Given the description of an element on the screen output the (x, y) to click on. 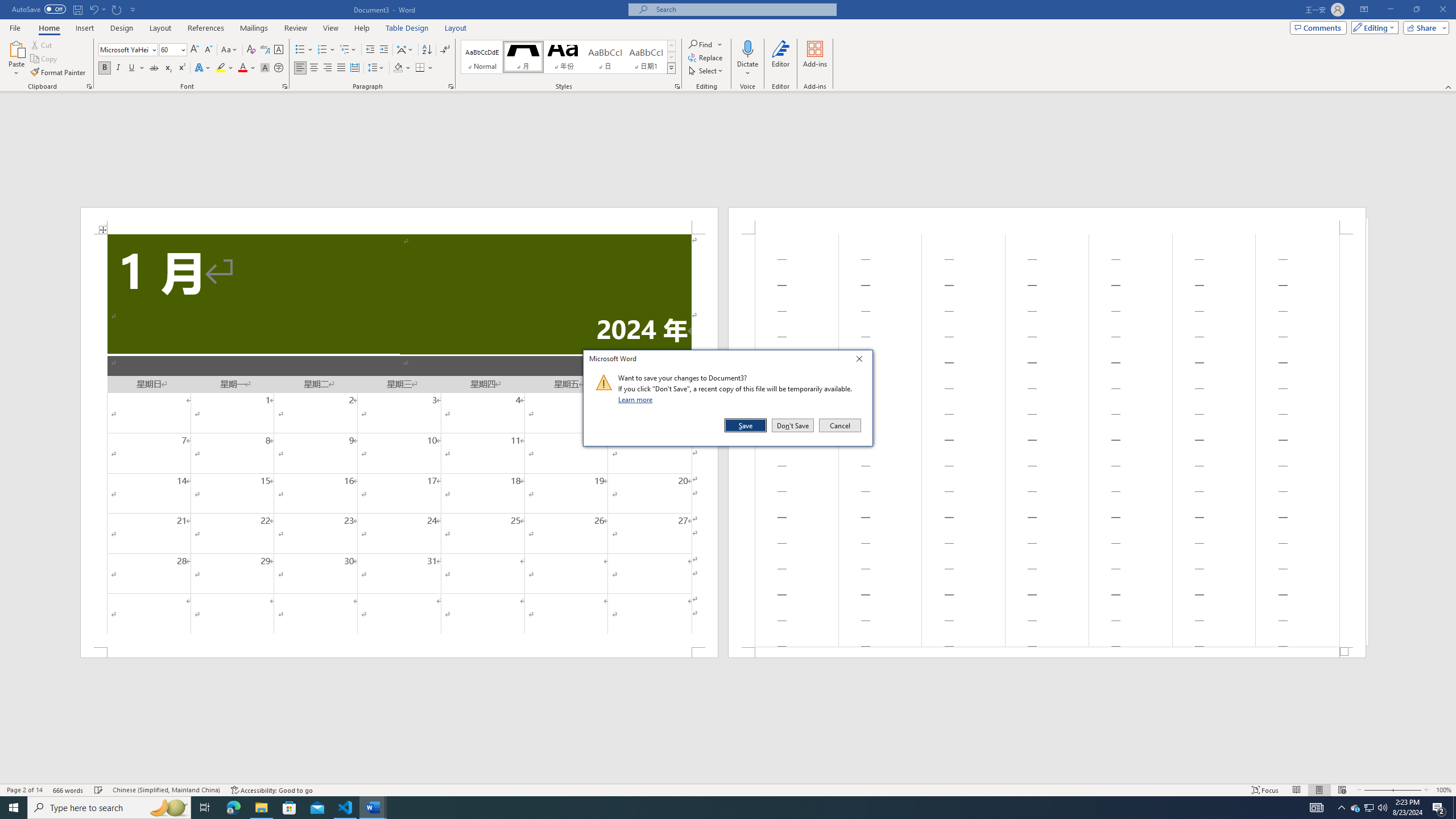
Don't Save (792, 425)
